Given the description of an element on the screen output the (x, y) to click on. 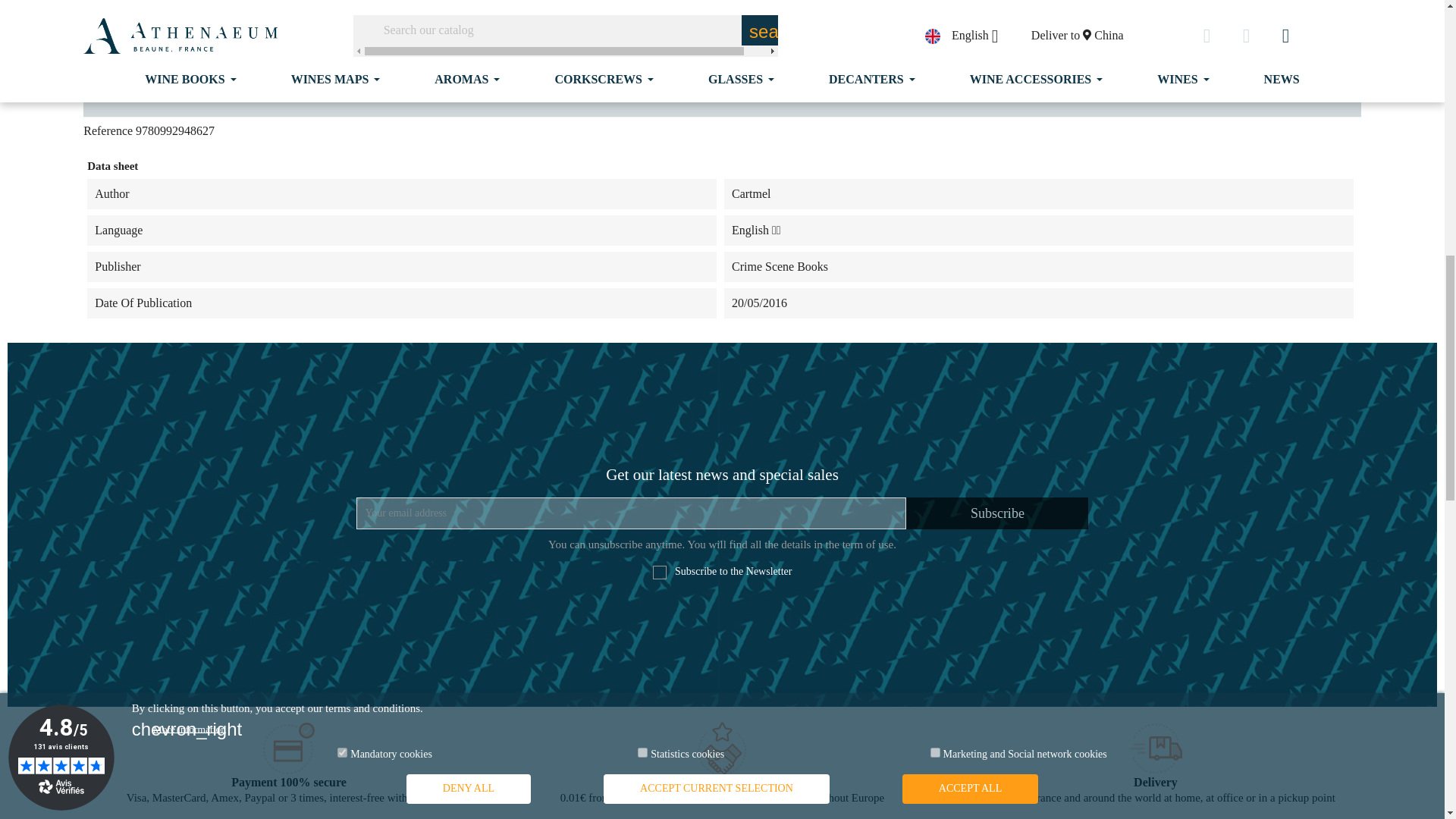
Subscribe (996, 513)
